Given the description of an element on the screen output the (x, y) to click on. 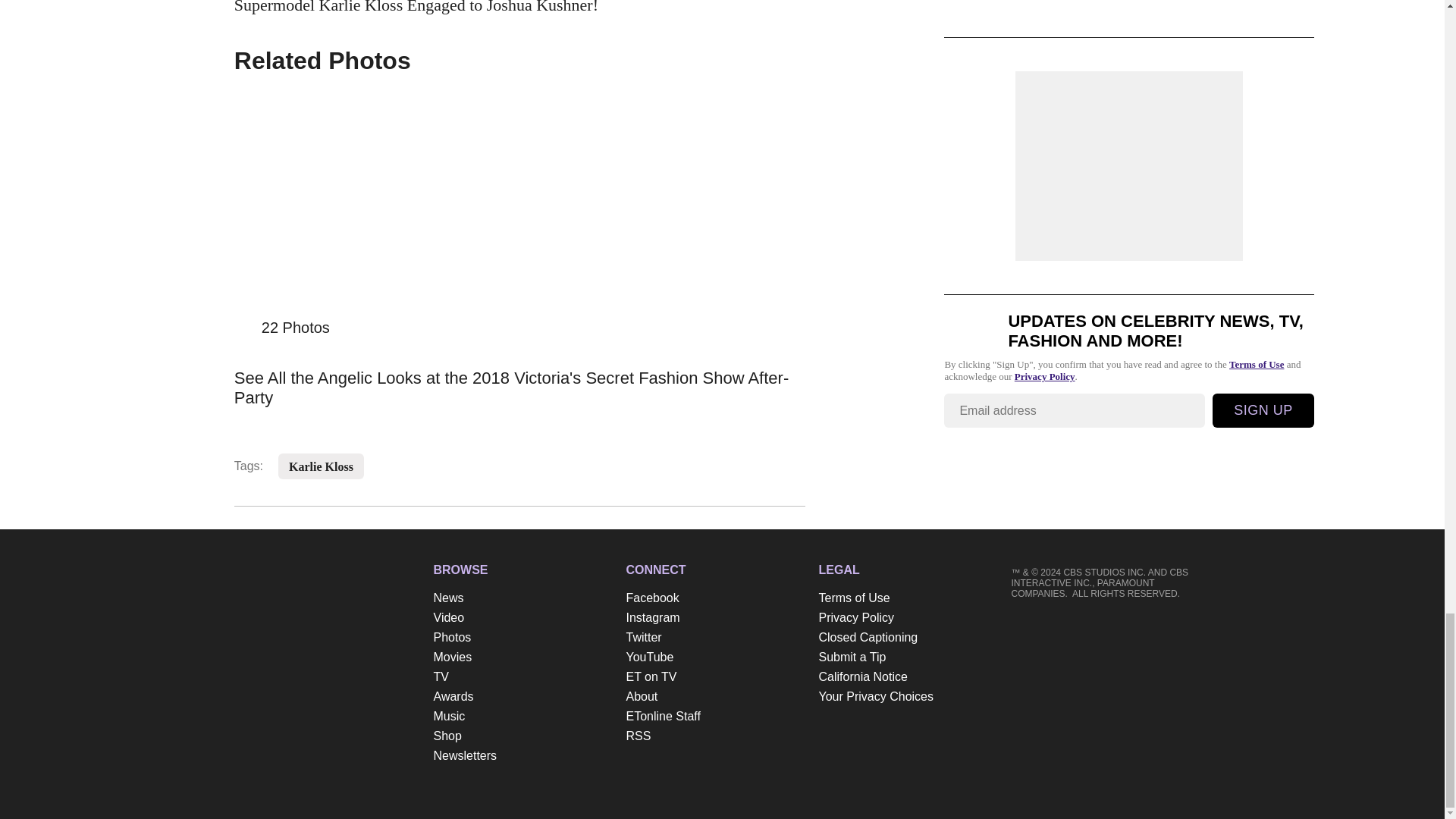
Supermodel Karlie Kloss Engaged to Joshua Kushner! (519, 7)
Karlie Kloss (320, 467)
